Given the description of an element on the screen output the (x, y) to click on. 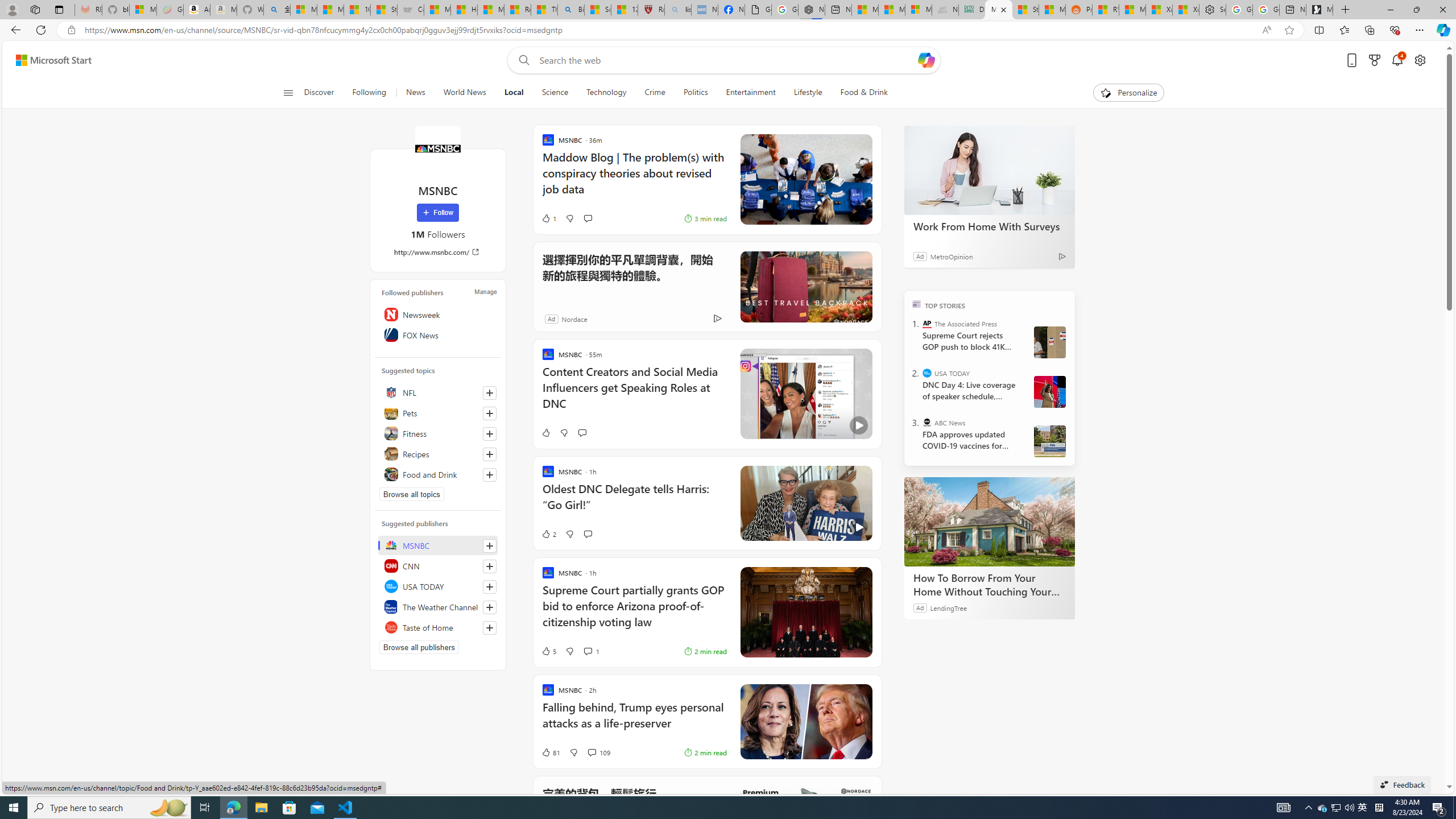
USA TODAY (927, 372)
MetroOpinion (951, 256)
http://www.msnbc.com/ (438, 251)
